Given the description of an element on the screen output the (x, y) to click on. 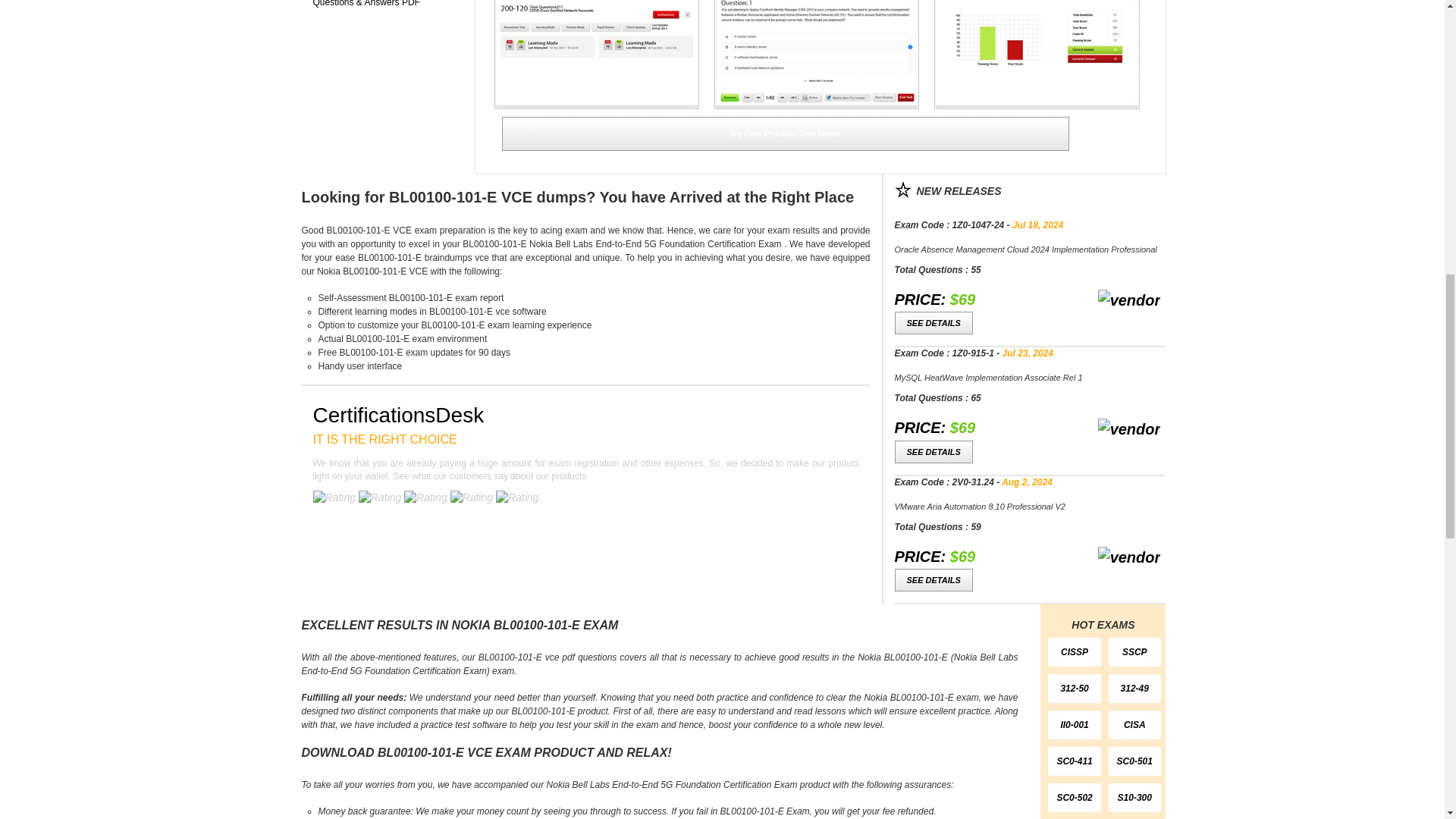
312-49 (1134, 688)
SC0-411 (1074, 760)
SSCP (1134, 652)
SEE DETAILS (933, 451)
312-50 (1074, 688)
Try Free Practice Test Demo (785, 133)
CISSP (1074, 652)
CISA (1134, 724)
II0-001 (1074, 724)
SEE DETAILS (933, 579)
SEE DETAILS (933, 323)
